Given the description of an element on the screen output the (x, y) to click on. 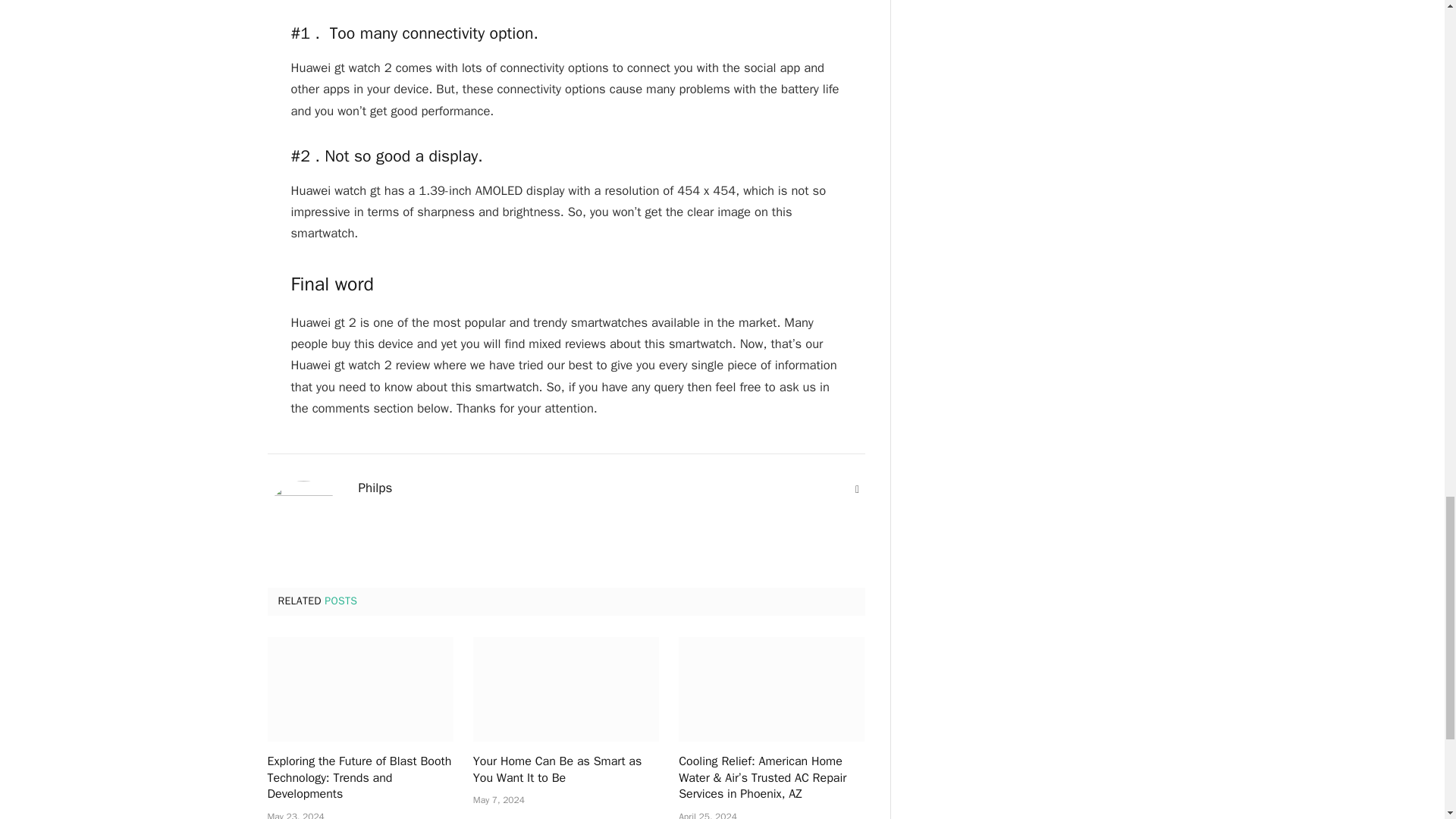
Website (856, 489)
Philps (374, 488)
